Given the description of an element on the screen output the (x, y) to click on. 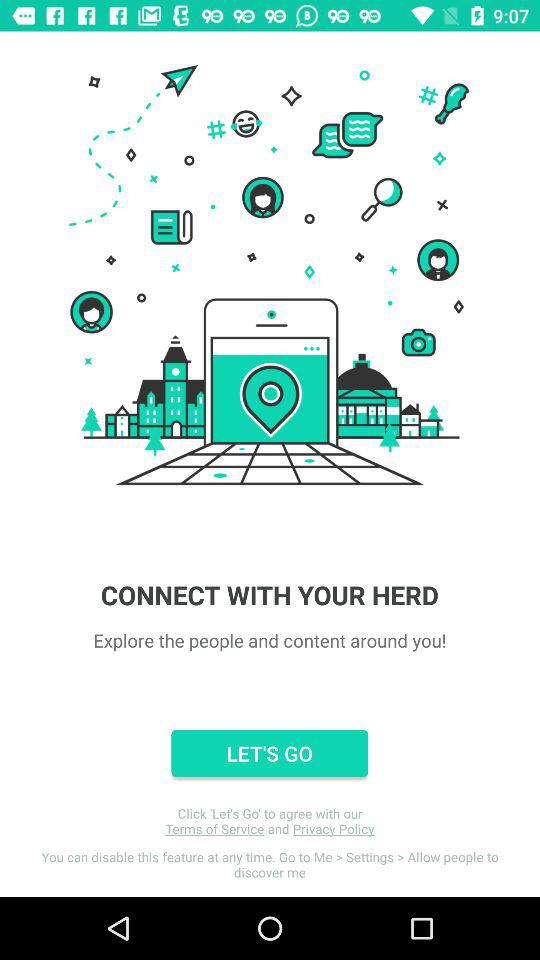
flip to click let s item (269, 821)
